Given the description of an element on the screen output the (x, y) to click on. 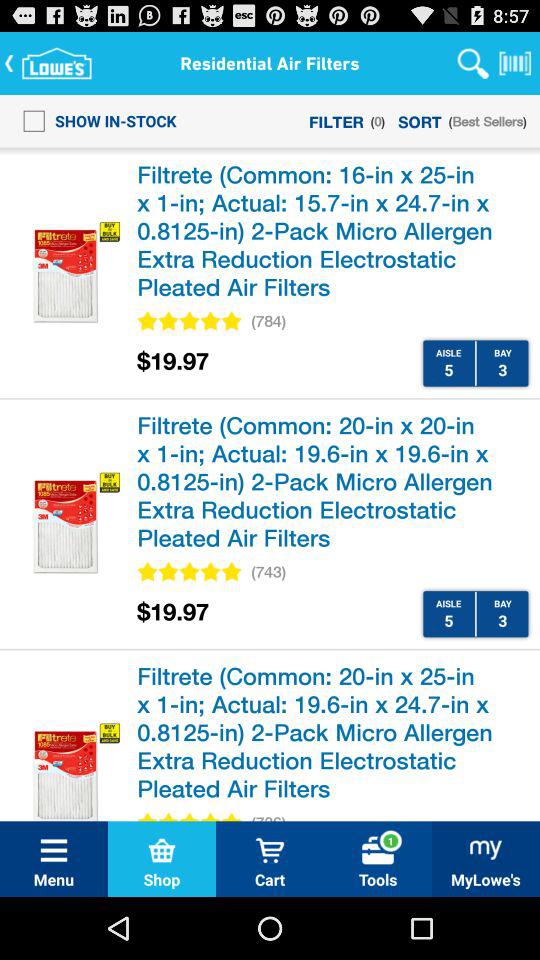
choose icon above the filtrete common 20 icon (268, 572)
